Given the description of an element on the screen output the (x, y) to click on. 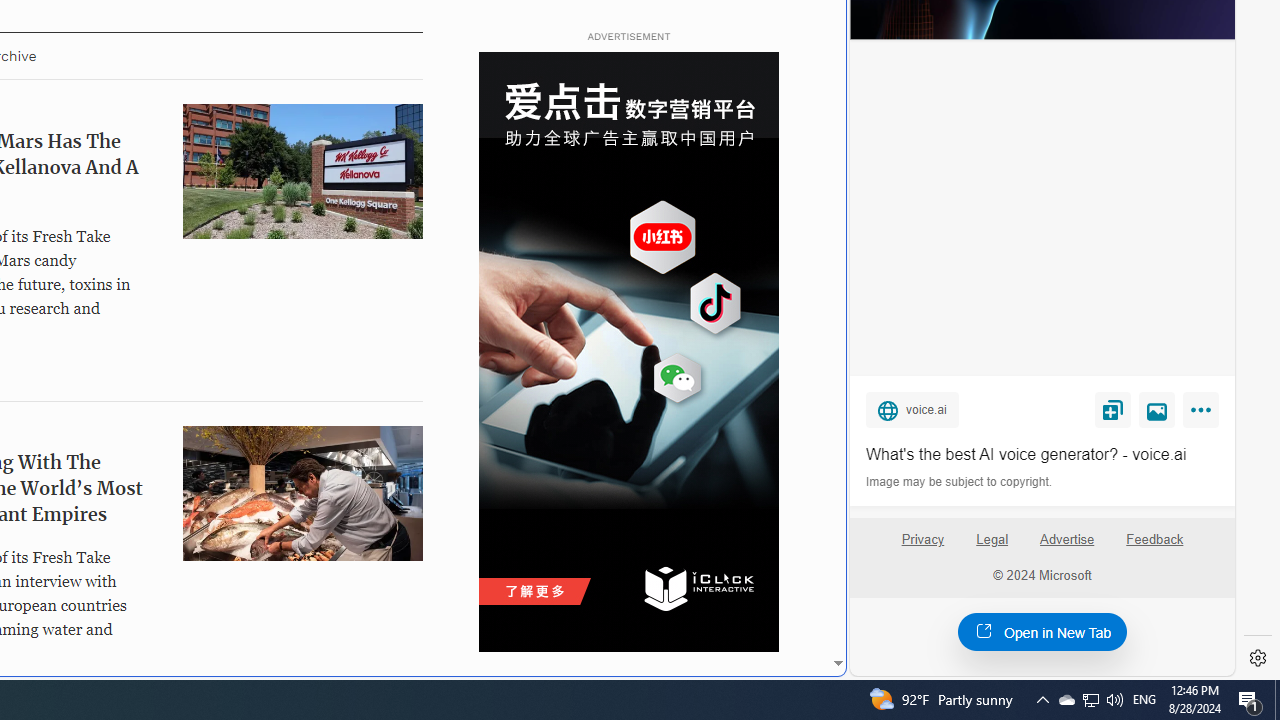
Privacy (922, 539)
View image (1157, 409)
Advertise (1067, 547)
Privacy (922, 547)
Open in New Tab (1042, 631)
Advertise (1066, 539)
Legal (991, 539)
article image (301, 492)
article image (301, 492)
Image may be subject to copyright. (959, 481)
voice.ai (912, 409)
What's the best AI voice generator? - voice.ai (1042, 454)
